Given the description of an element on the screen output the (x, y) to click on. 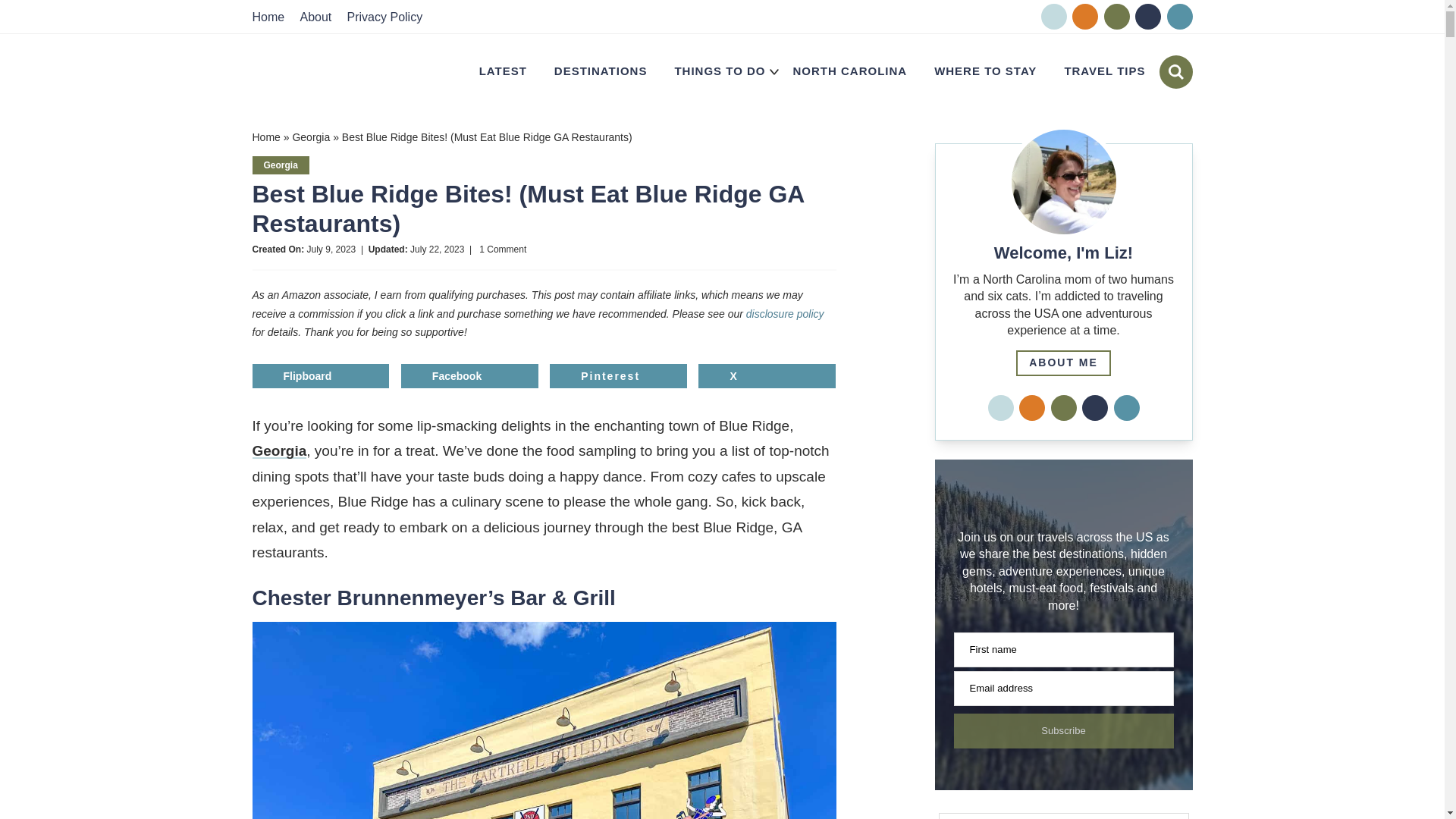
LATEST (502, 70)
Share on Flipboard (319, 375)
SEARCH (1174, 71)
Home (273, 16)
Search for (1063, 816)
NORTH CAROLINA (849, 70)
Share on X (766, 375)
SEARCH (1175, 71)
GET LOST IN THE USA (322, 71)
DESTINATIONS (600, 70)
TRAVEL TIPS (1103, 70)
THINGS TO DO (719, 70)
Share on Facebook (469, 375)
WHERE TO STAY (984, 70)
